Given the description of an element on the screen output the (x, y) to click on. 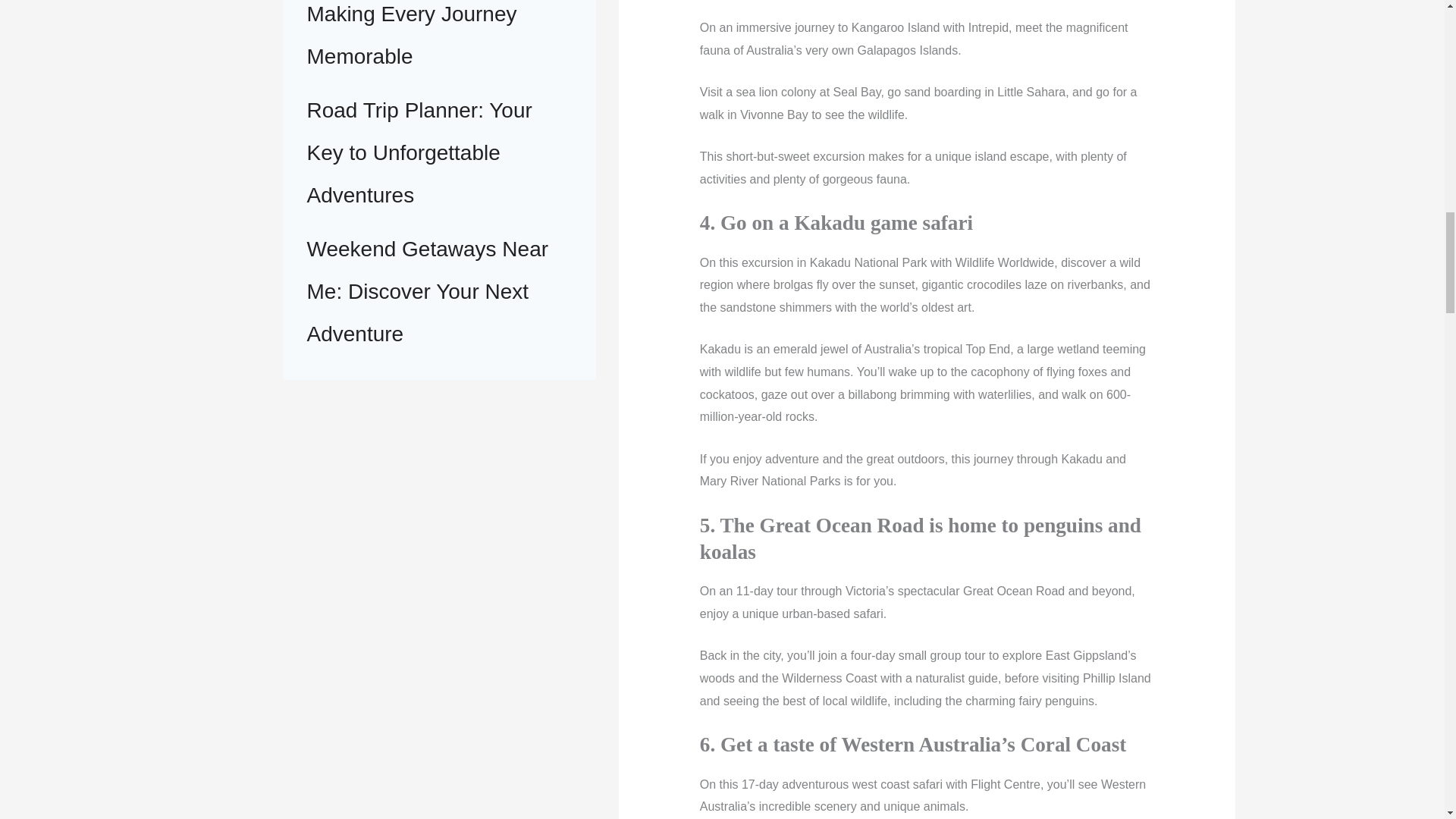
Weekend Getaways Near Me: Discover Your Next Adventure (426, 291)
Road Trip Planner: Your Key to Unforgettable Adventures (418, 152)
Virgin Australia Flights: Making Every Journey Memorable (413, 33)
